Given the description of an element on the screen output the (x, y) to click on. 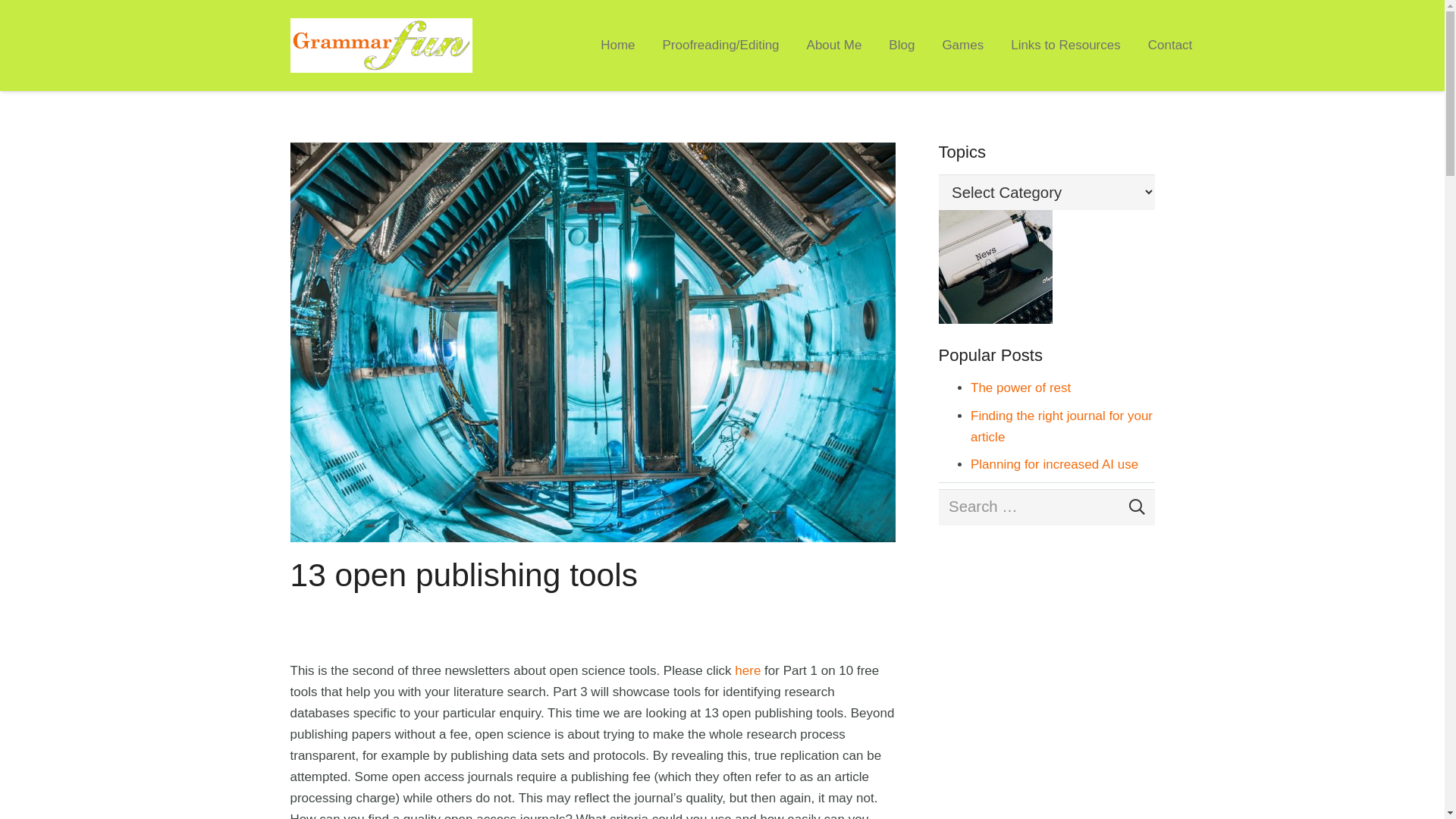
Finding the right journal for your article Element type: text (1061, 426)
Proofreading/Editing Element type: text (721, 45)
Home Element type: text (617, 45)
Links to Resources Element type: text (1065, 45)
here Element type: text (747, 670)
Planning for increased AI use Element type: text (1054, 464)
About Me Element type: text (834, 45)
Contact Element type: text (1170, 45)
The power of rest Element type: text (1020, 387)
Games Element type: text (962, 45)
Blog Element type: text (901, 45)
Search Element type: text (1132, 507)
